Given the description of an element on the screen output the (x, y) to click on. 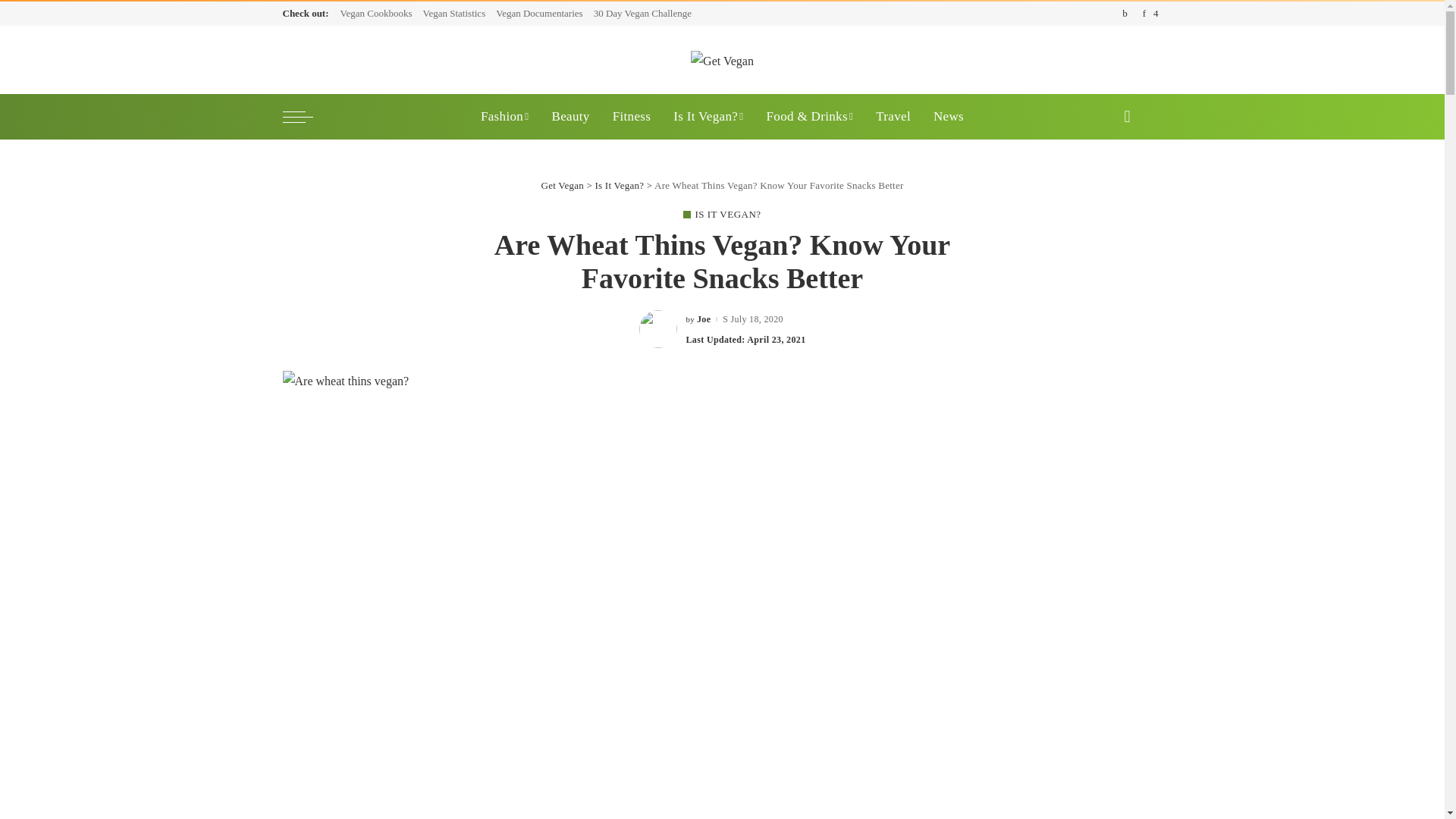
Fitness (631, 116)
Fashion (504, 116)
Travel (892, 116)
Vegan Statistics (453, 13)
Vegan Documentaries (539, 13)
Vegan Cookbooks (378, 13)
Beauty (569, 116)
Get Vegan (722, 58)
30 Day Vegan Challenge (642, 13)
Is It Vegan? (708, 116)
